Given the description of an element on the screen output the (x, y) to click on. 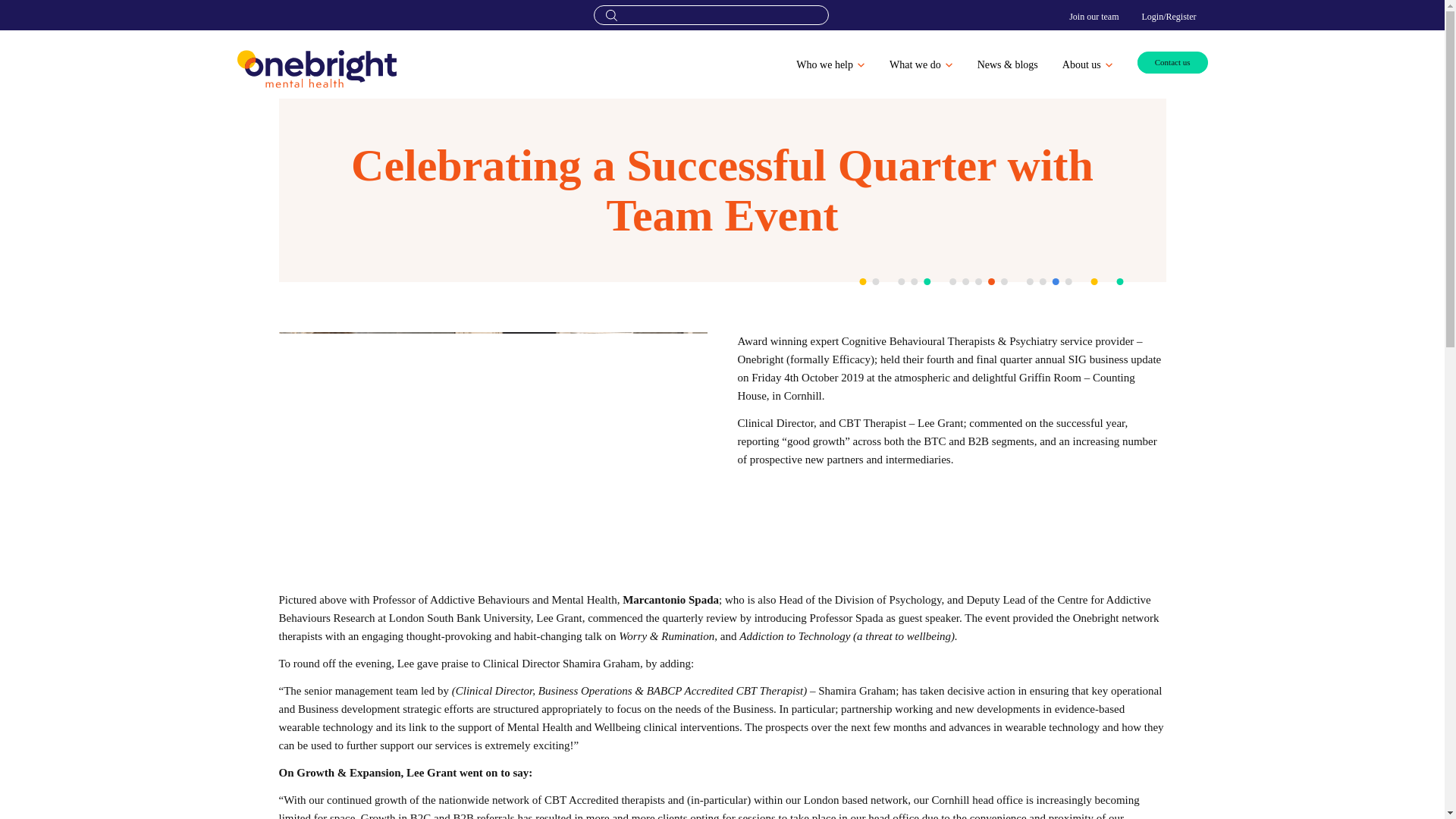
Screenshot 2021-09-15 at 15.57.29 (493, 461)
What we do (921, 65)
Who we help (830, 65)
Join our team (1093, 15)
Search (710, 15)
Onebright (315, 68)
